Given the description of an element on the screen output the (x, y) to click on. 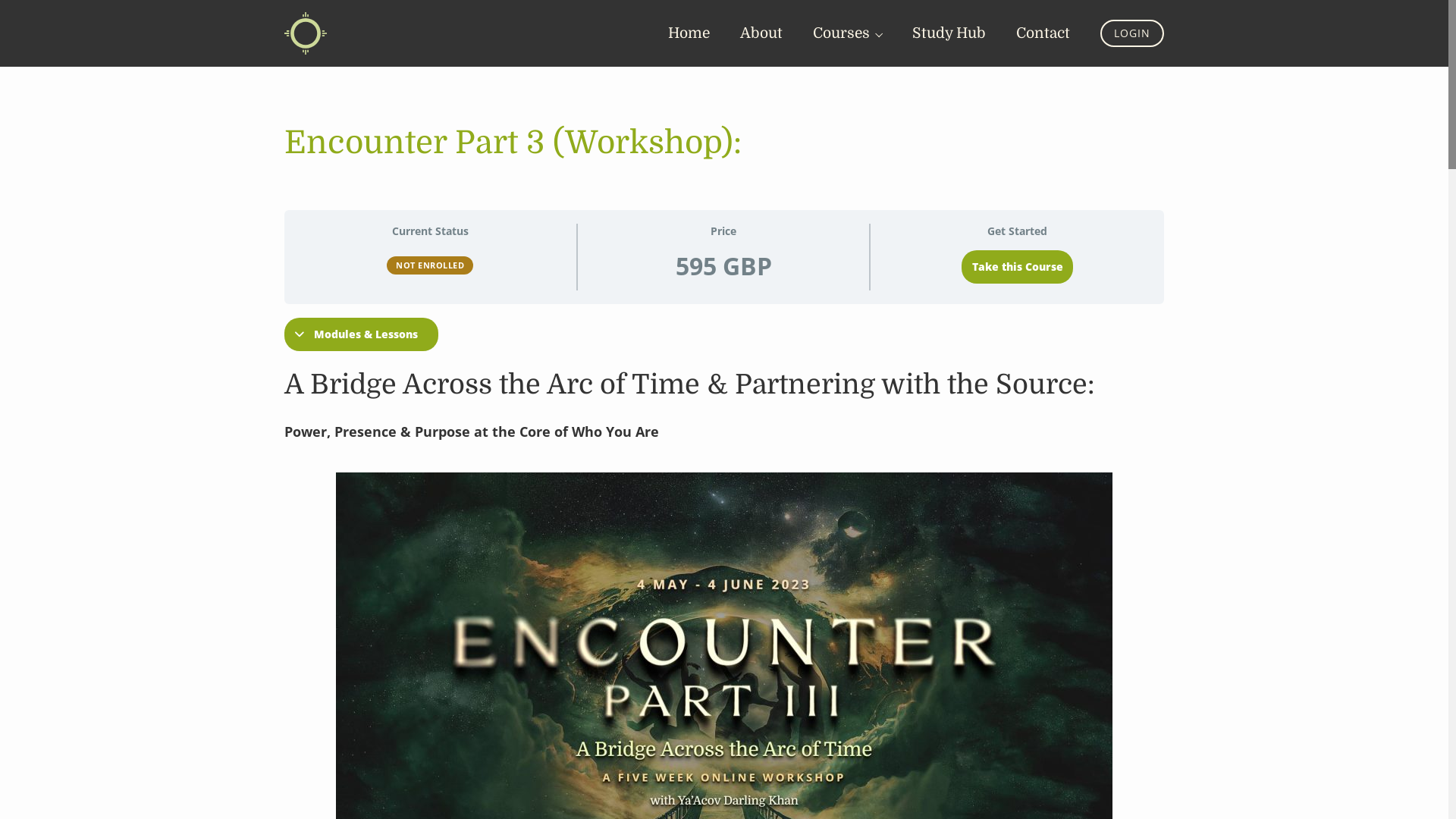
Courses Element type: text (847, 33)
LOGIN Element type: text (1132, 33)
Study Hub Element type: text (949, 33)
About Element type: text (760, 33)
Contact Element type: text (1043, 33)
Modules & Lessons Element type: text (361, 334)
Take this Course Element type: text (1017, 266)
Home Element type: text (688, 33)
